Given the description of an element on the screen output the (x, y) to click on. 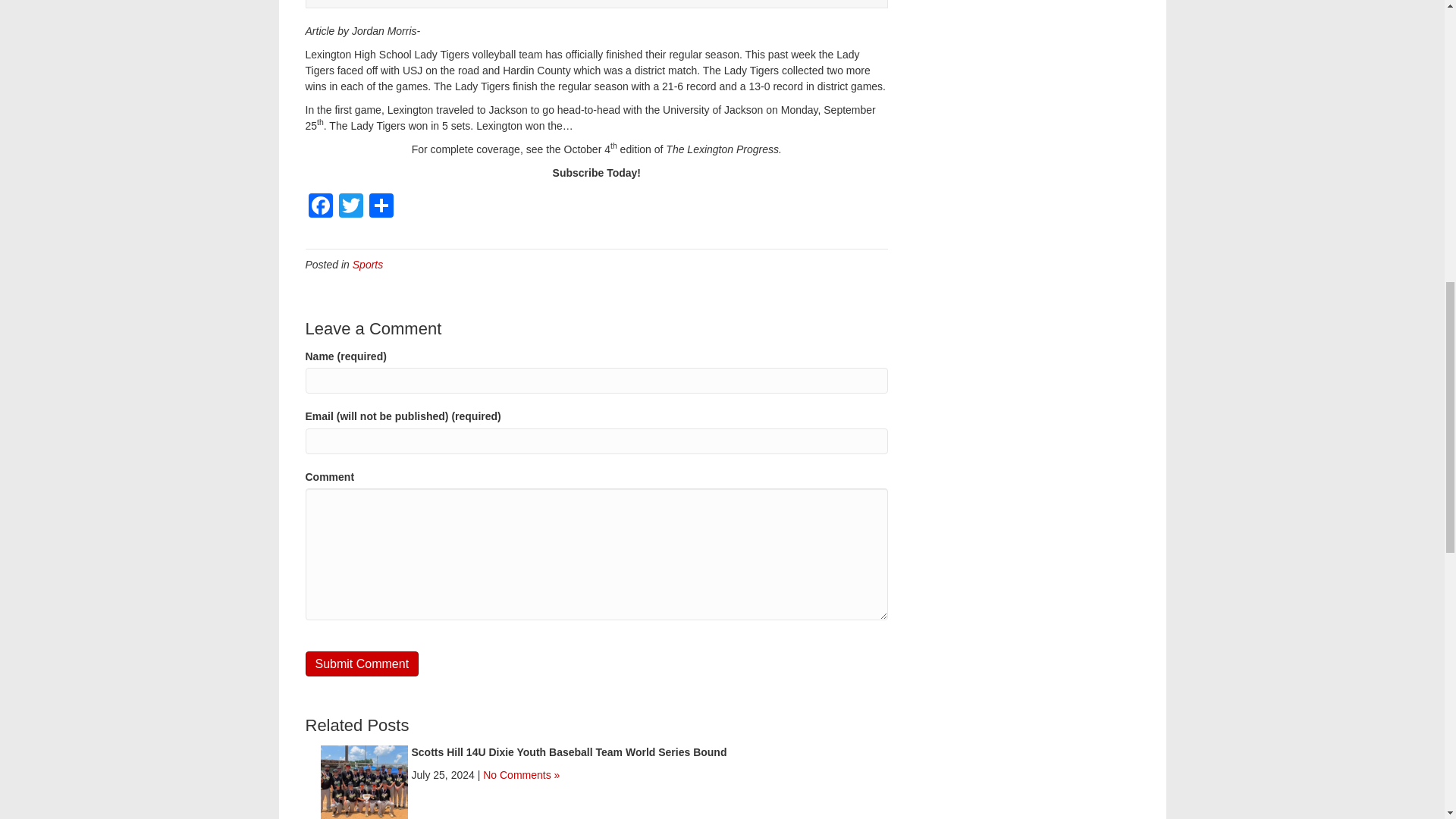
Facebook (319, 207)
Scotts Hill 14U Dixie Youth Baseball Team World Series Bound (363, 787)
Facebook (319, 207)
Share (380, 207)
Submit Comment (361, 663)
Twitter (349, 207)
Sports (367, 264)
Twitter (349, 207)
Submit Comment (361, 663)
Scotts Hill 14U Dixie Youth Baseball Team World Series Bound (568, 752)
